Given the description of an element on the screen output the (x, y) to click on. 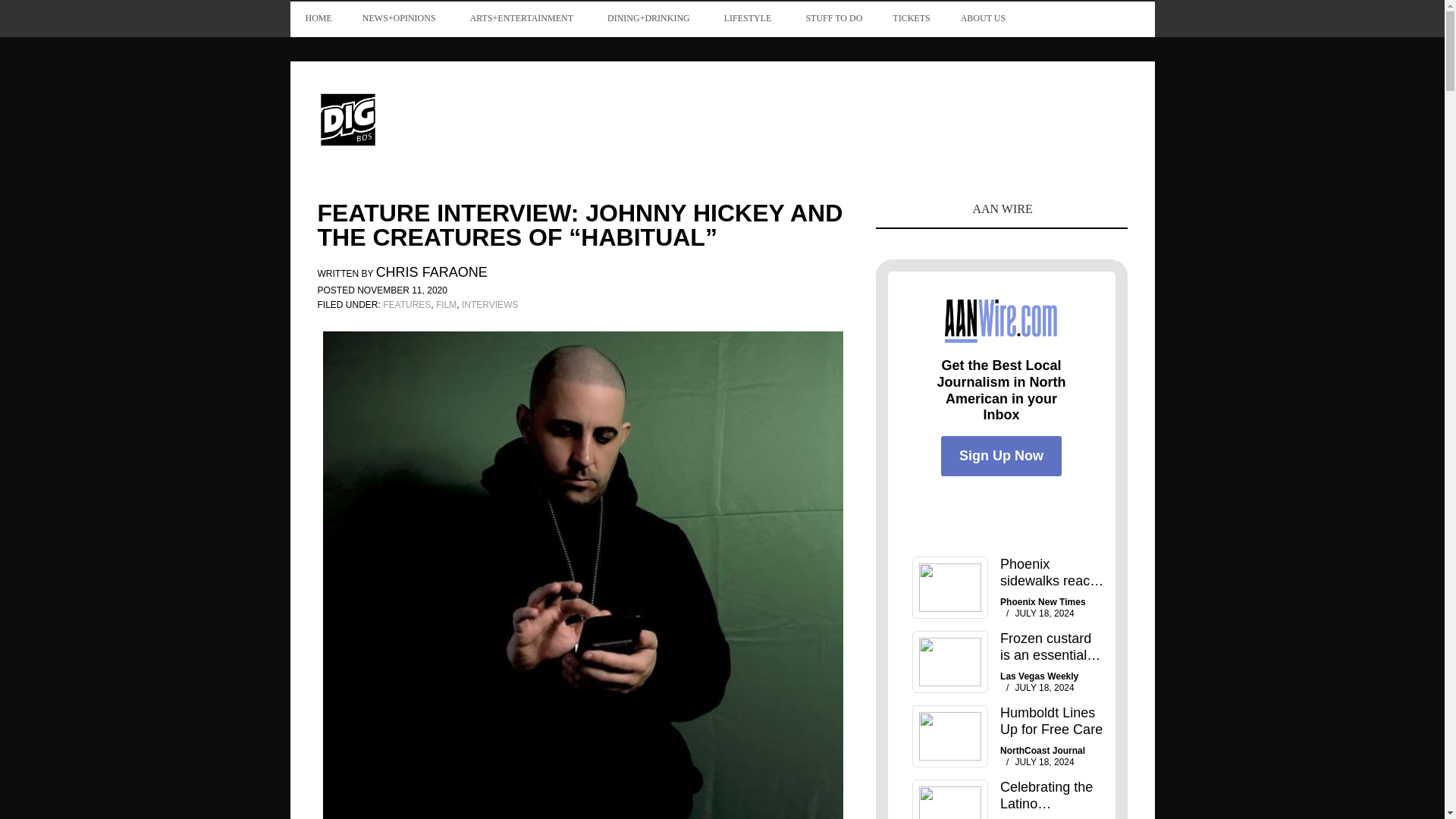
CHRIS FARAONE (431, 273)
DIG BOS (419, 118)
FEATURES (406, 304)
INTERVIEWS (489, 304)
LIFESTYLE (749, 18)
HOME (317, 18)
STUFF TO DO (833, 18)
TICKETS (910, 18)
FILM (446, 304)
